Given the description of an element on the screen output the (x, y) to click on. 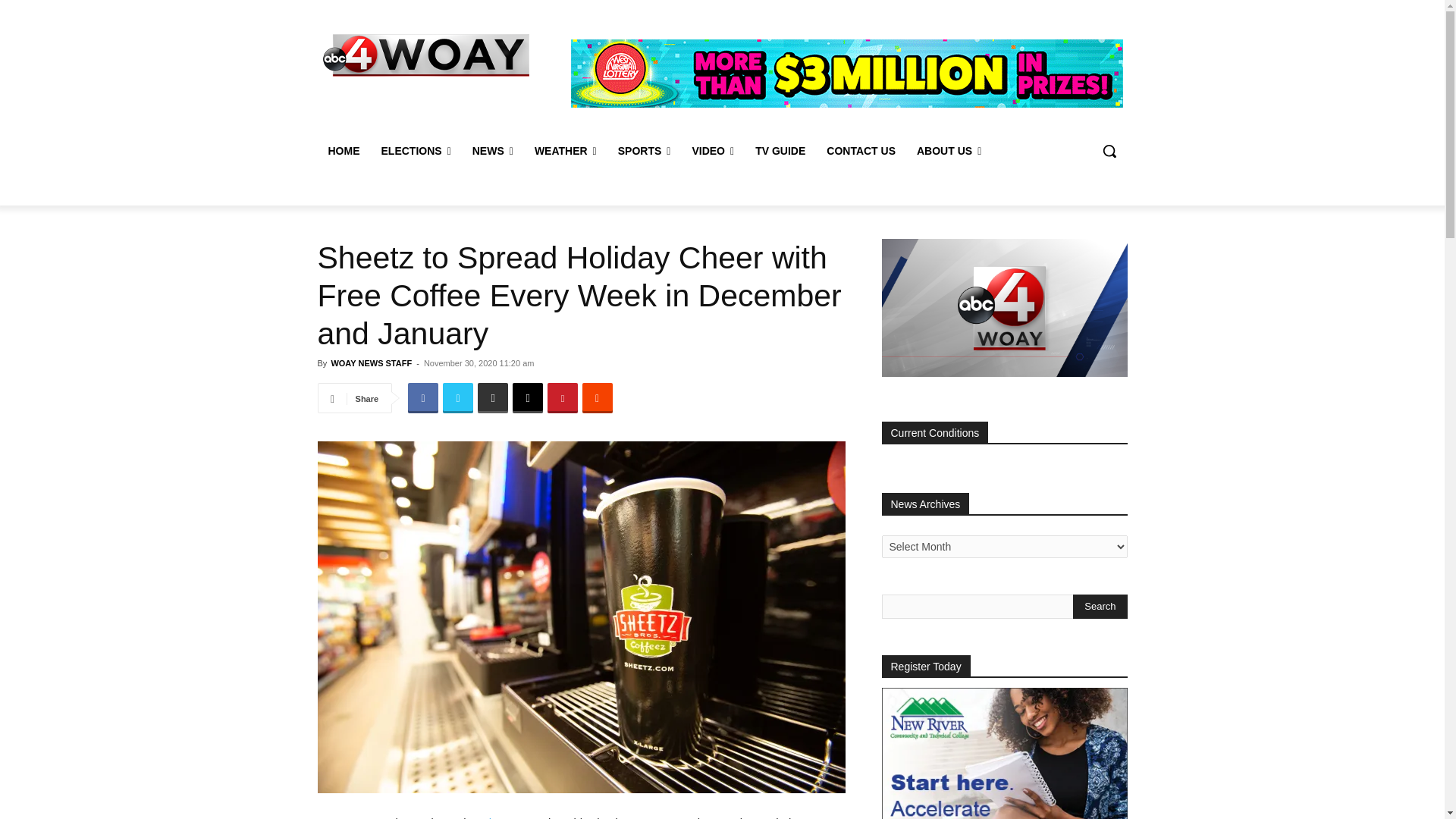
Facebook (422, 398)
Twitter (457, 398)
ReddIt (597, 398)
Email (527, 398)
Search (1099, 606)
WOAY News (426, 55)
Pinterest (562, 398)
Print (492, 398)
WOAY News (425, 55)
